Given the description of an element on the screen output the (x, y) to click on. 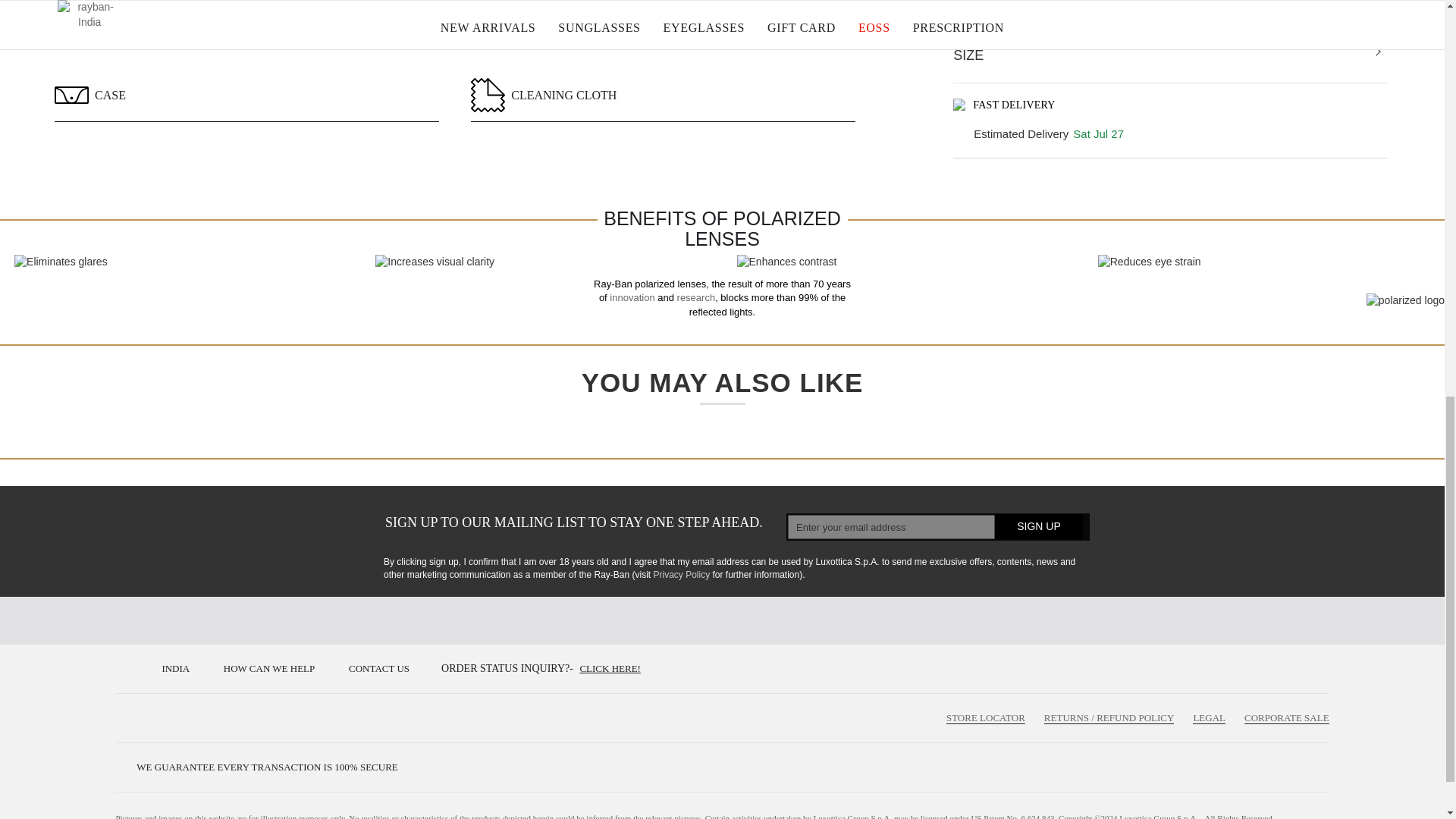
privacy policy (681, 574)
sign up (1038, 526)
